Given the description of an element on the screen output the (x, y) to click on. 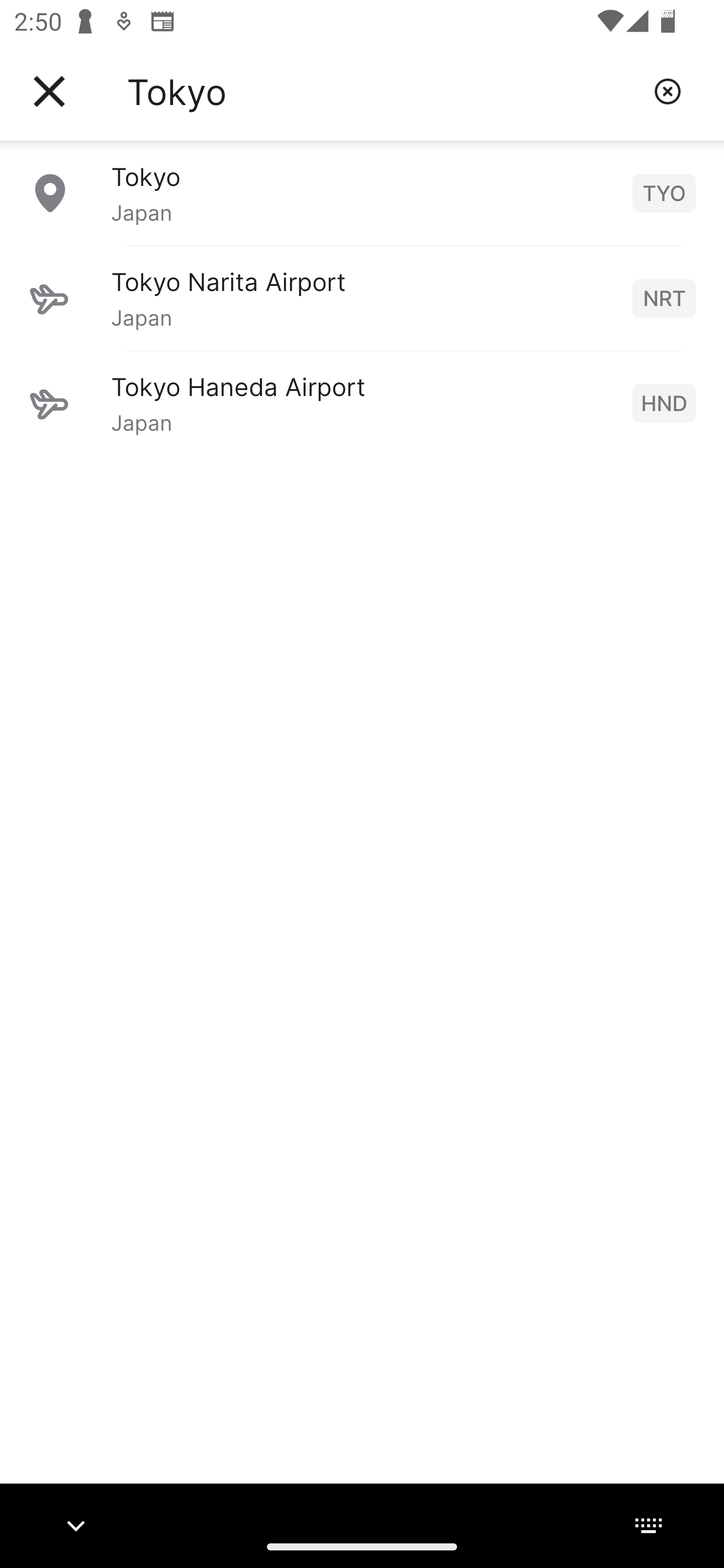
Tokyo (382, 91)
Tokyo Japan TYO (362, 192)
Tokyo Narita Airport Japan NRT (362, 297)
Tokyo Haneda Airport Japan HND (362, 402)
